Given the description of an element on the screen output the (x, y) to click on. 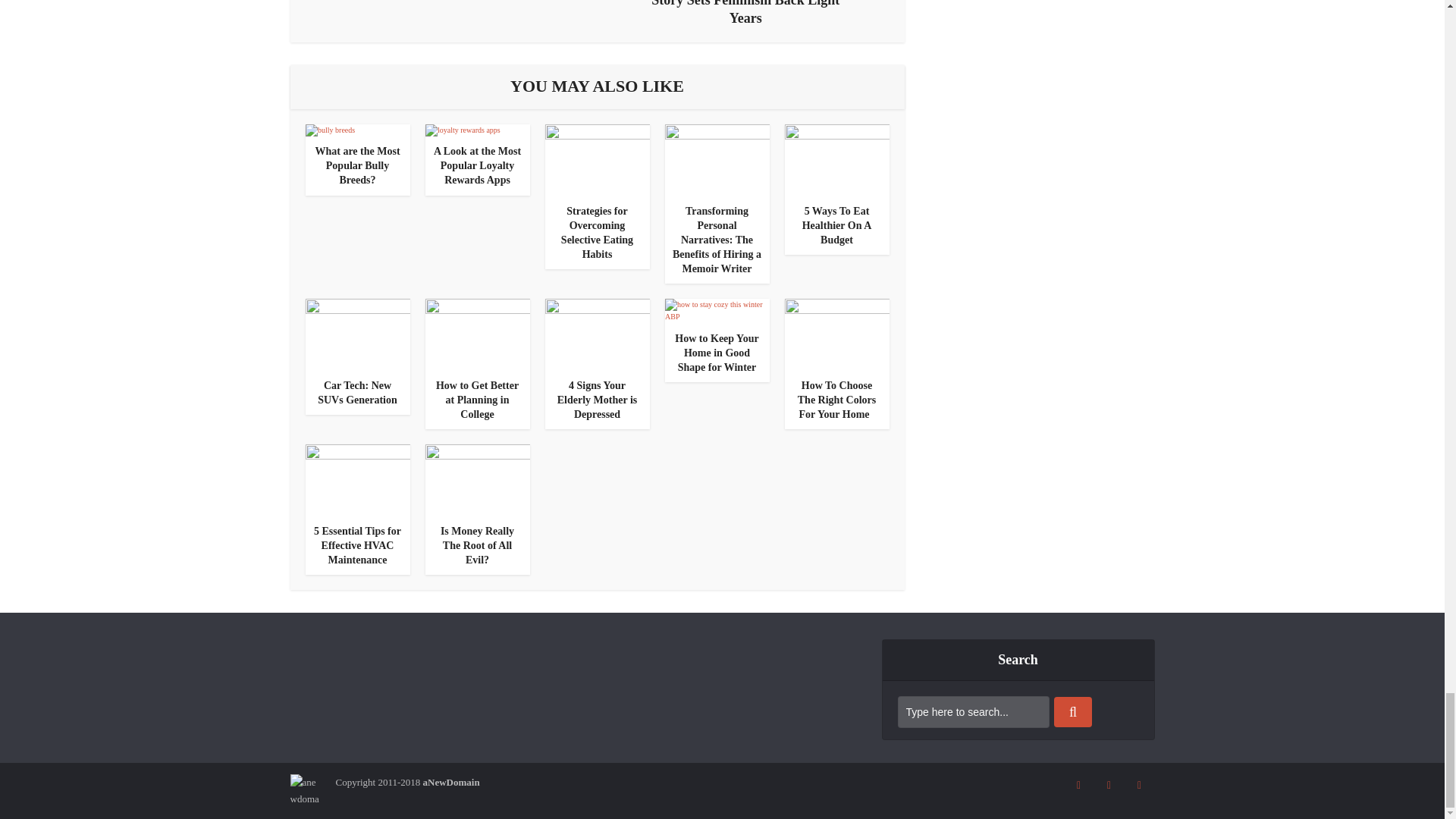
5 Ways To Eat Healthier On A Budget (836, 158)
How to Get Better at Planning in College (476, 400)
Strategies for Overcoming Selective Eating Habits (596, 232)
Strategies for Overcoming Selective Eating Habits (596, 158)
A Look at the Most Popular Loyalty Rewards Apps (462, 130)
5 Ways To Eat Healthier On A Budget (837, 225)
How to Get Better at Planning in College (477, 334)
Car Tech: New SUVs Generation (357, 392)
What are the Most Popular Bully Breeds? (356, 165)
Strategies for Overcoming Selective Eating Habits (596, 232)
